Given the description of an element on the screen output the (x, y) to click on. 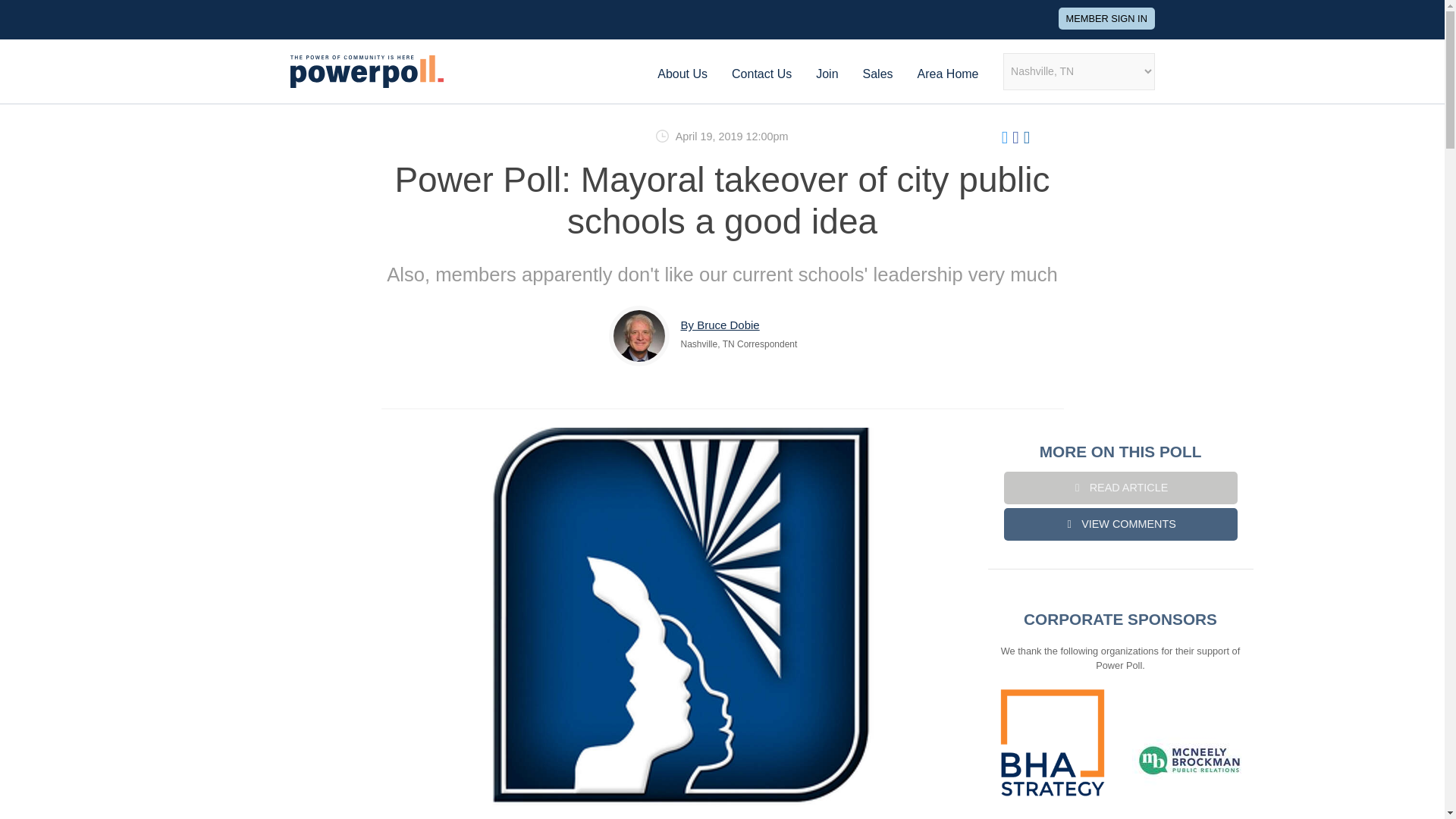
Area Home (947, 72)
BHA Strategy Logo (1051, 742)
By Bruce Dobie (720, 324)
Sales (878, 72)
MEMBER SIGN IN (1106, 18)
Join (826, 72)
McNeely Brockman Public Relations Logo (1187, 761)
About Us (682, 72)
Contact Us (762, 72)
